Given the description of an element on the screen output the (x, y) to click on. 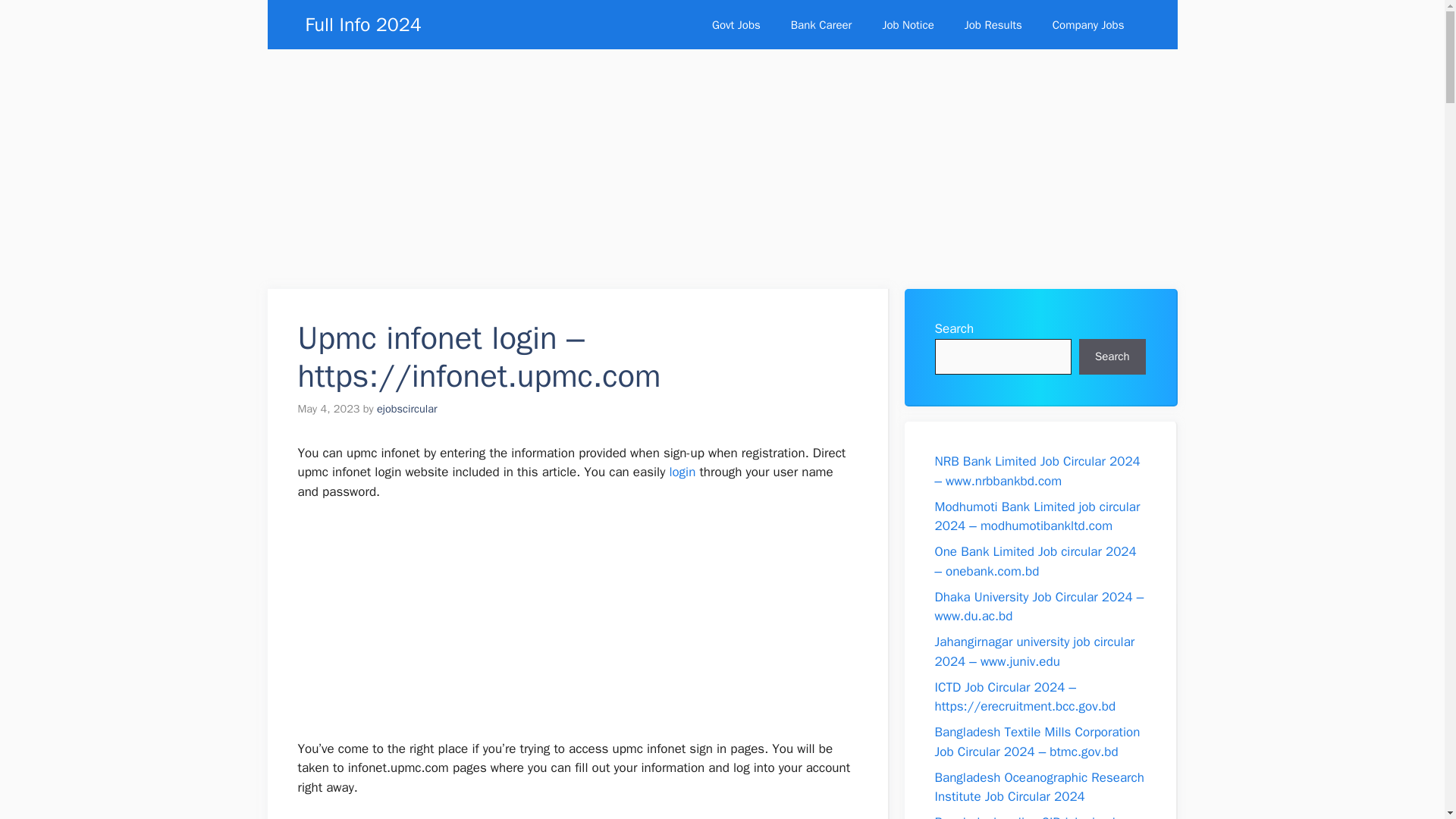
Full Info 2024 (362, 24)
login (681, 471)
Search (1111, 356)
Advertisement (576, 626)
ejobscircular (407, 408)
Govt Jobs (736, 23)
Company Jobs (1088, 23)
View all posts by ejobscircular (407, 408)
Bank Career (821, 23)
Job Notice (907, 23)
Job Results (992, 23)
